Given the description of an element on the screen output the (x, y) to click on. 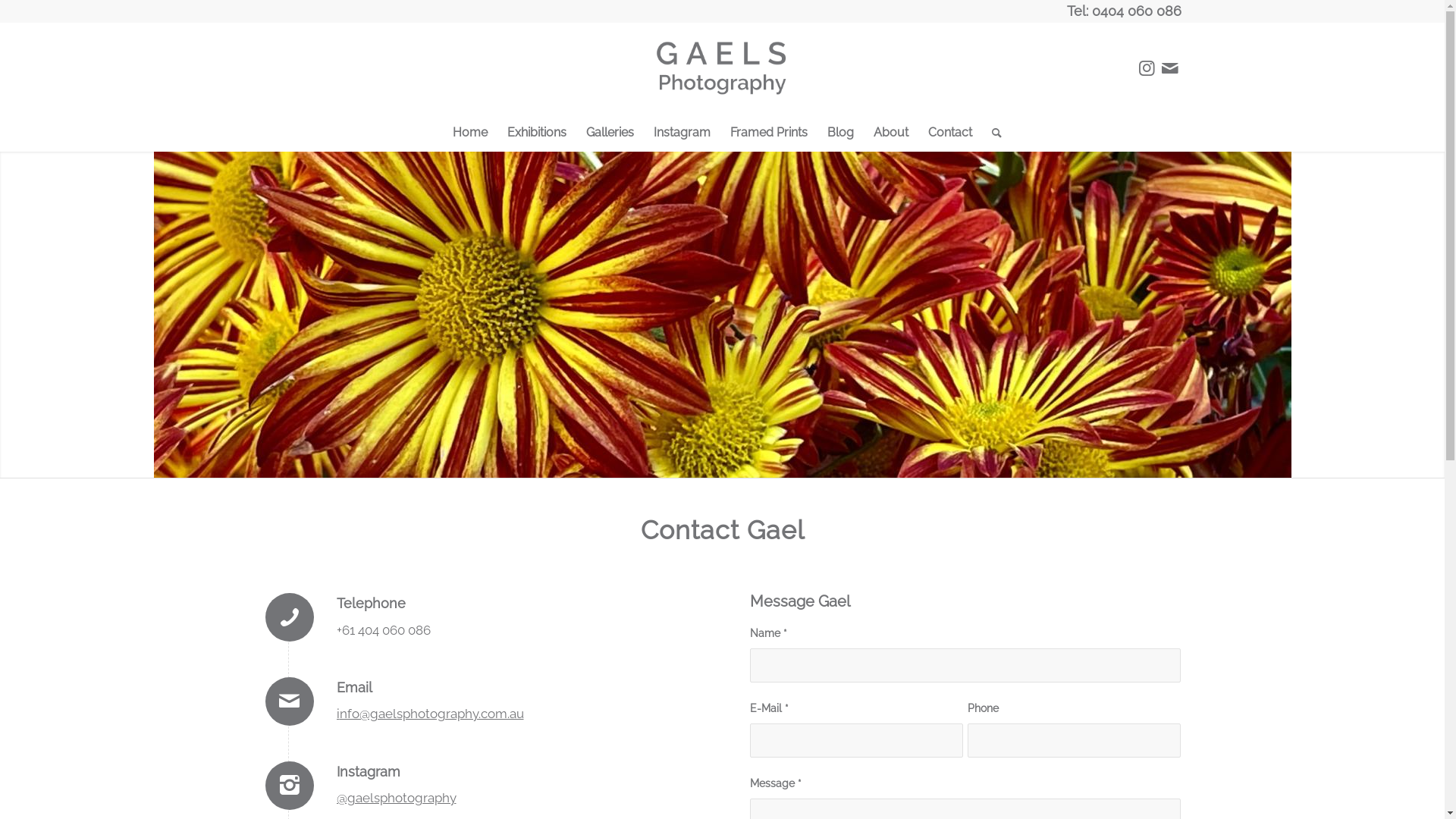
Exhibitions Element type: text (536, 132)
Instagram Element type: text (681, 132)
Contact Element type: text (950, 132)
Mail Element type: hover (1169, 67)
Galleries Element type: text (609, 132)
@gaelsphotography Element type: text (396, 797)
i Element type: text (337, 713)
Gaels-Photography-Grey Element type: hover (722, 67)
Blog Element type: text (840, 132)
Framed Prints Element type: text (768, 132)
Instagram Element type: hover (1146, 67)
About Element type: text (890, 132)
Home Element type: text (469, 132)
Contact Element type: hover (721, 314)
nfo@gaelsphotography.com.au Element type: text (431, 713)
